Given the description of an element on the screen output the (x, y) to click on. 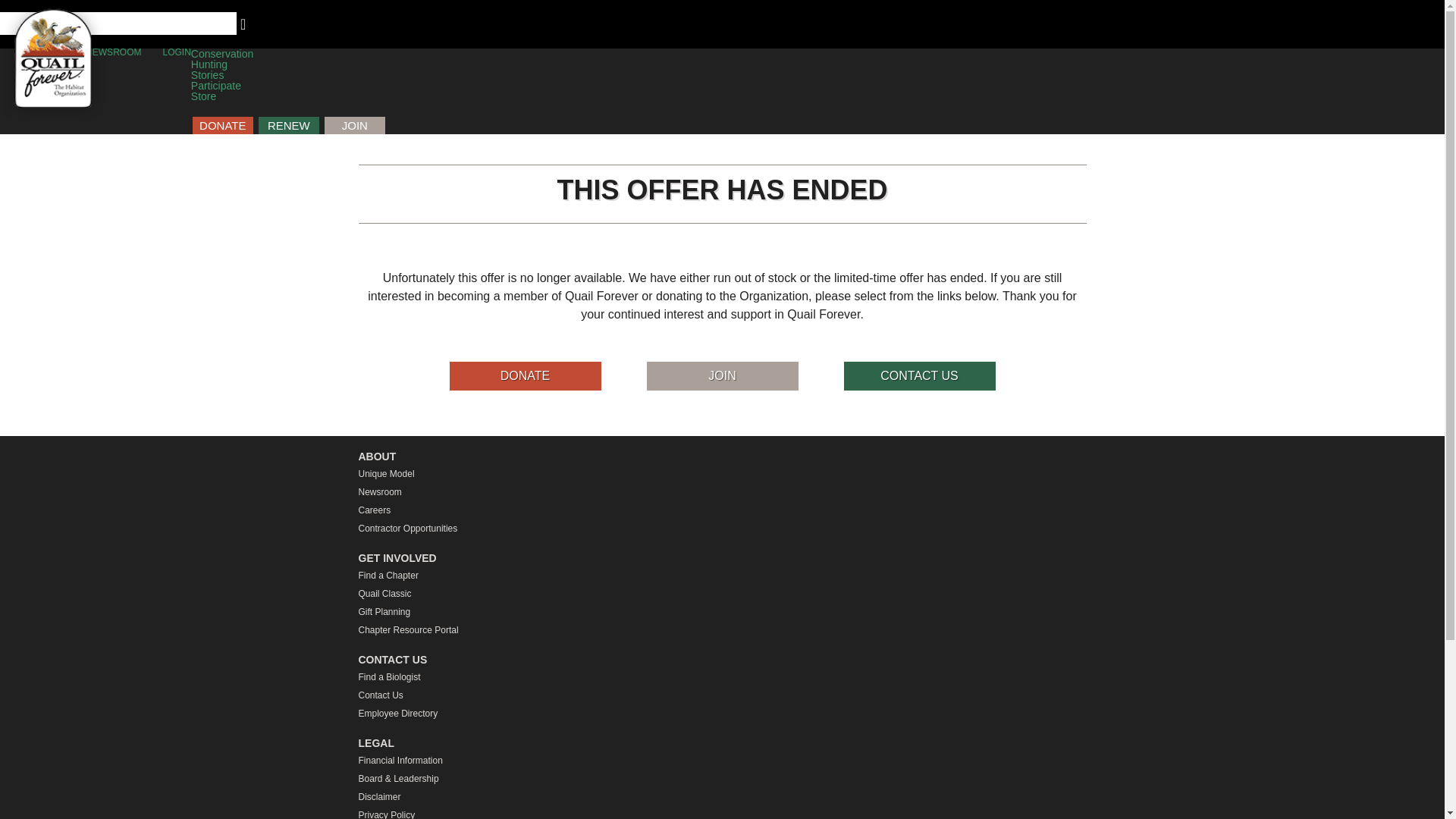
CONTACT US (918, 375)
JOIN (354, 125)
Contractor Opportunities (722, 528)
Find a Biologist (722, 677)
NEWSROOM (113, 52)
Unique Model (722, 474)
Newsroom (722, 492)
Chapter Resource Portal (722, 629)
ABOUT US (40, 52)
DONATE (523, 375)
Participate (215, 85)
Gift Planning (722, 611)
Hunting (208, 64)
Stories (207, 74)
